Given the description of an element on the screen output the (x, y) to click on. 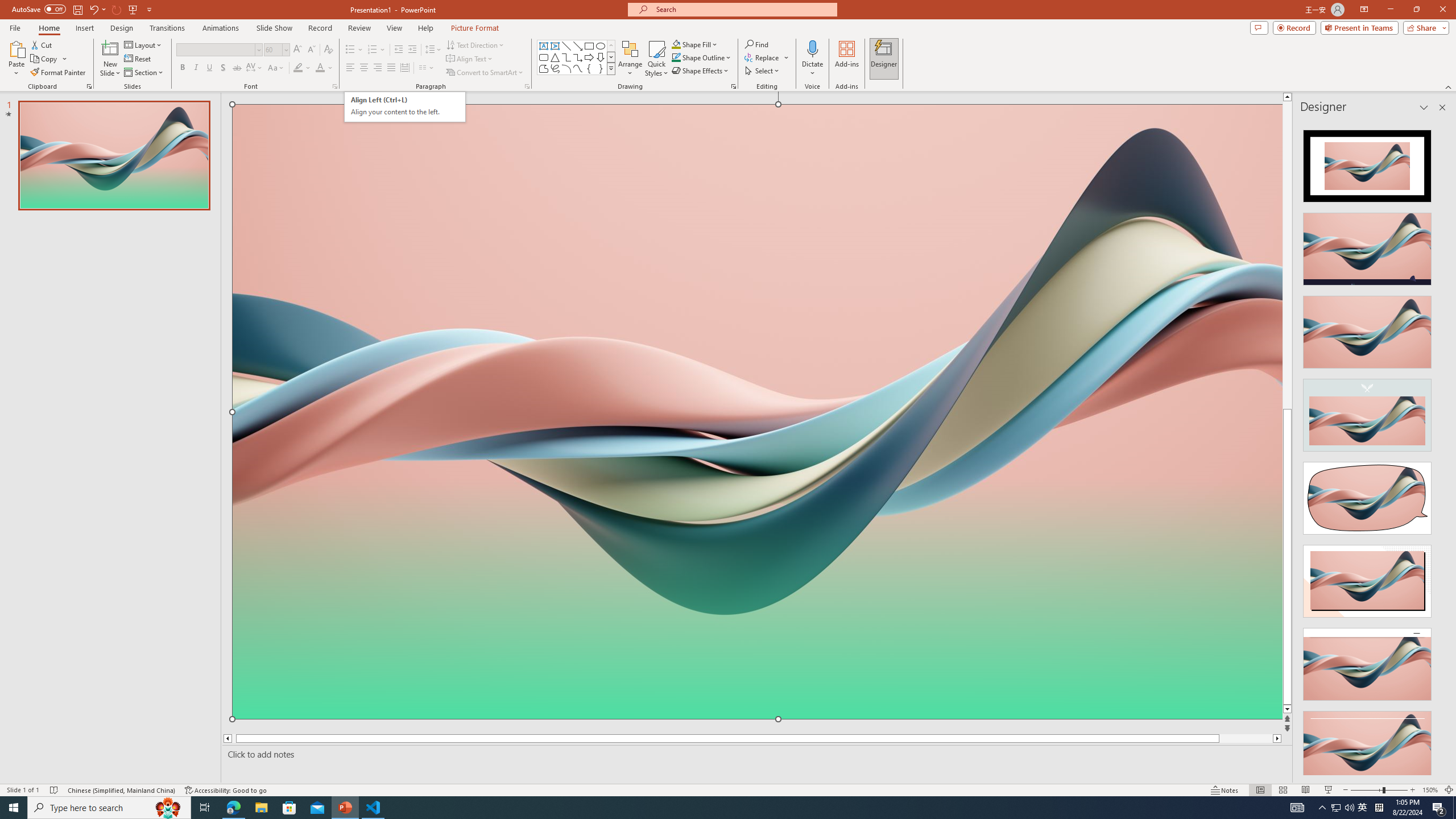
Wavy 3D art (404, 106)
